Given the description of an element on the screen output the (x, y) to click on. 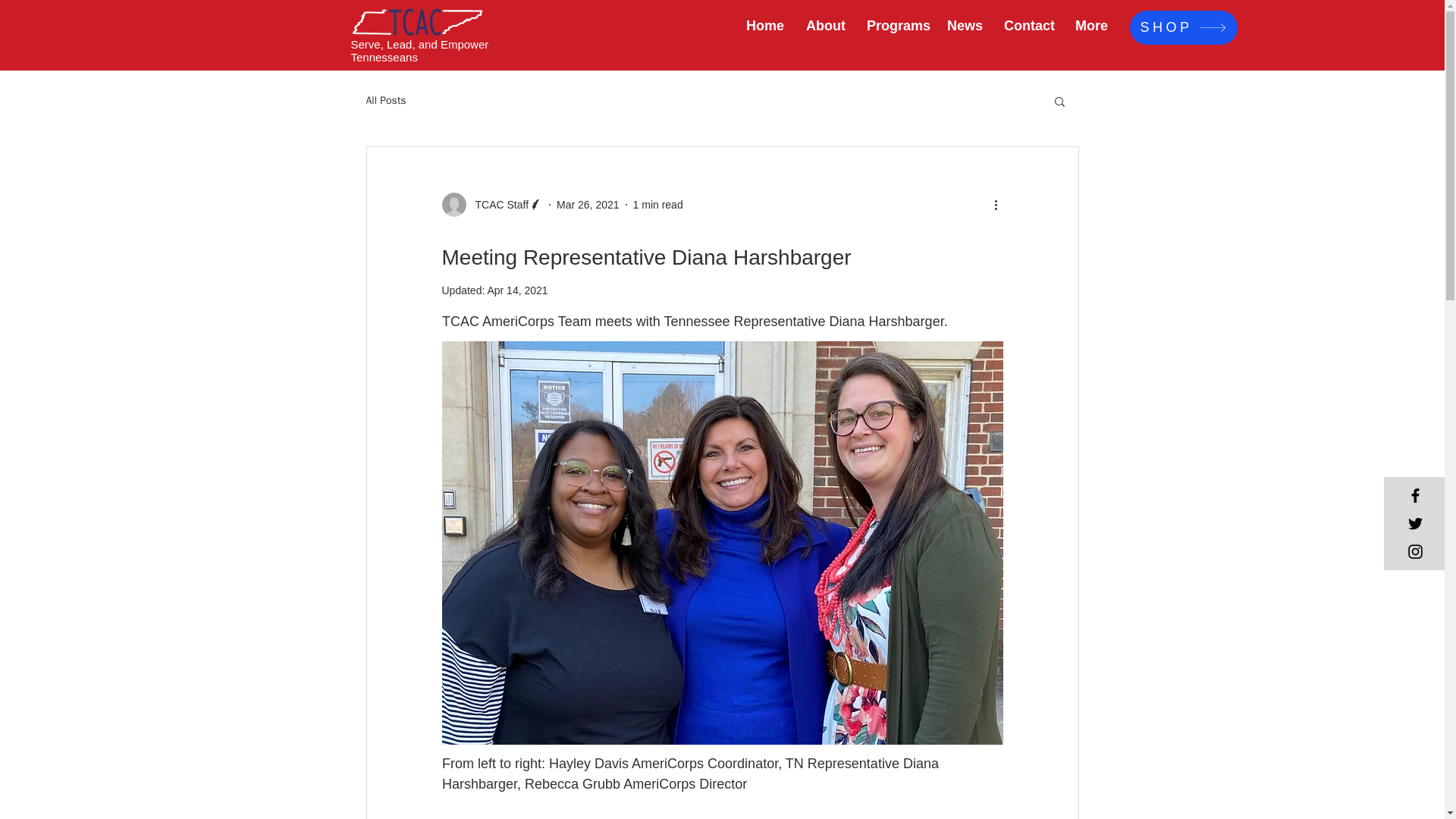
SHOP (1183, 27)
All Posts (385, 100)
TCAC Staff (496, 204)
News (964, 25)
Mar 26, 2021 (588, 204)
TCAC Staff (492, 204)
Contact (1028, 25)
Programs (896, 25)
Apr 14, 2021 (516, 290)
About (825, 25)
